Given the description of an element on the screen output the (x, y) to click on. 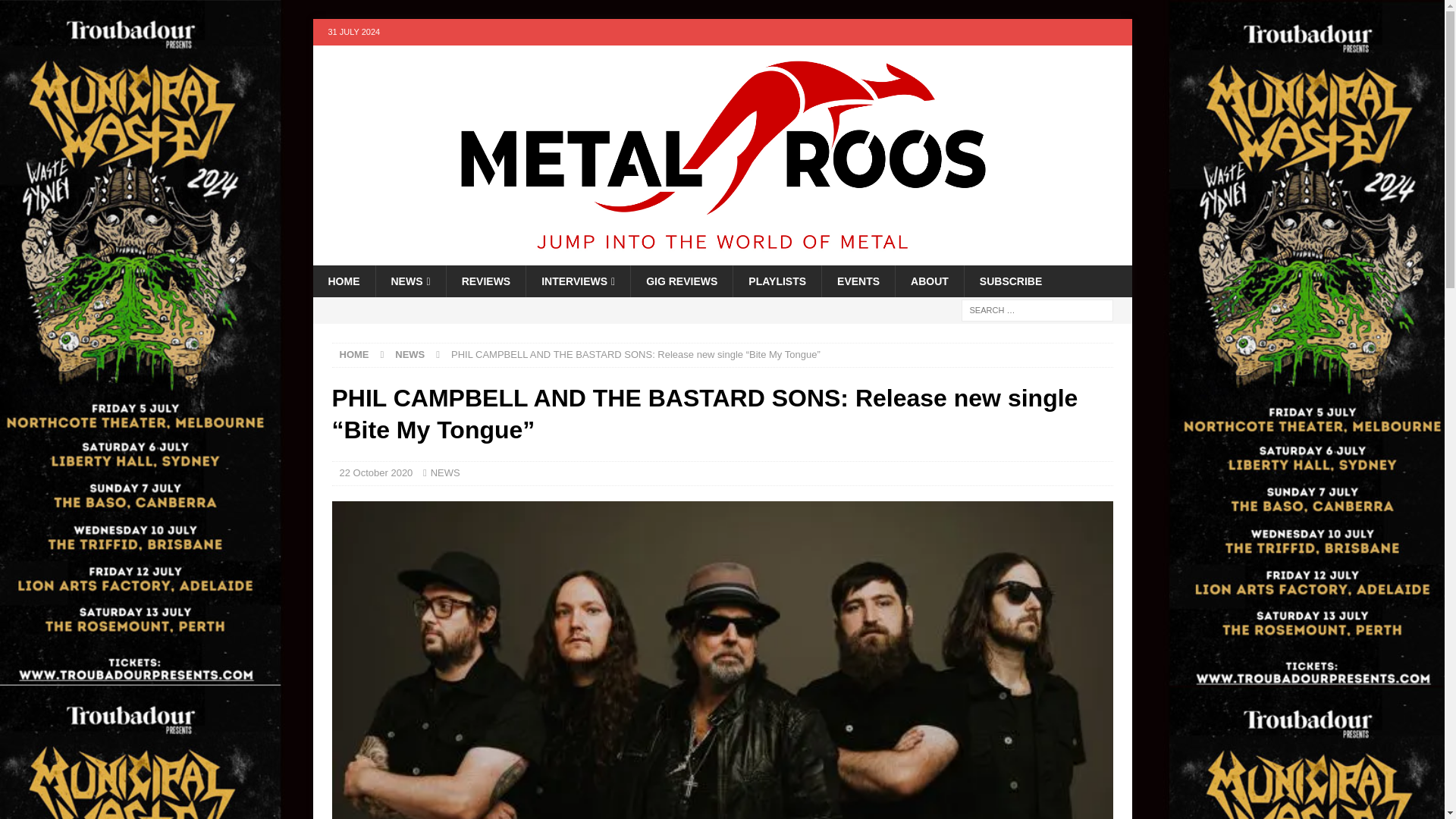
Metal-Roos (722, 256)
PLAYLISTS (776, 281)
NEWS (445, 472)
EVENTS (858, 281)
INTERVIEWS (577, 281)
NEWS (409, 354)
22 October 2020 (376, 472)
NEWS (409, 281)
HOME (343, 281)
ABOUT (929, 281)
SUBSCRIBE (1010, 281)
REVIEWS (485, 281)
GIG REVIEWS (681, 281)
HOME (354, 354)
